Given the description of an element on the screen output the (x, y) to click on. 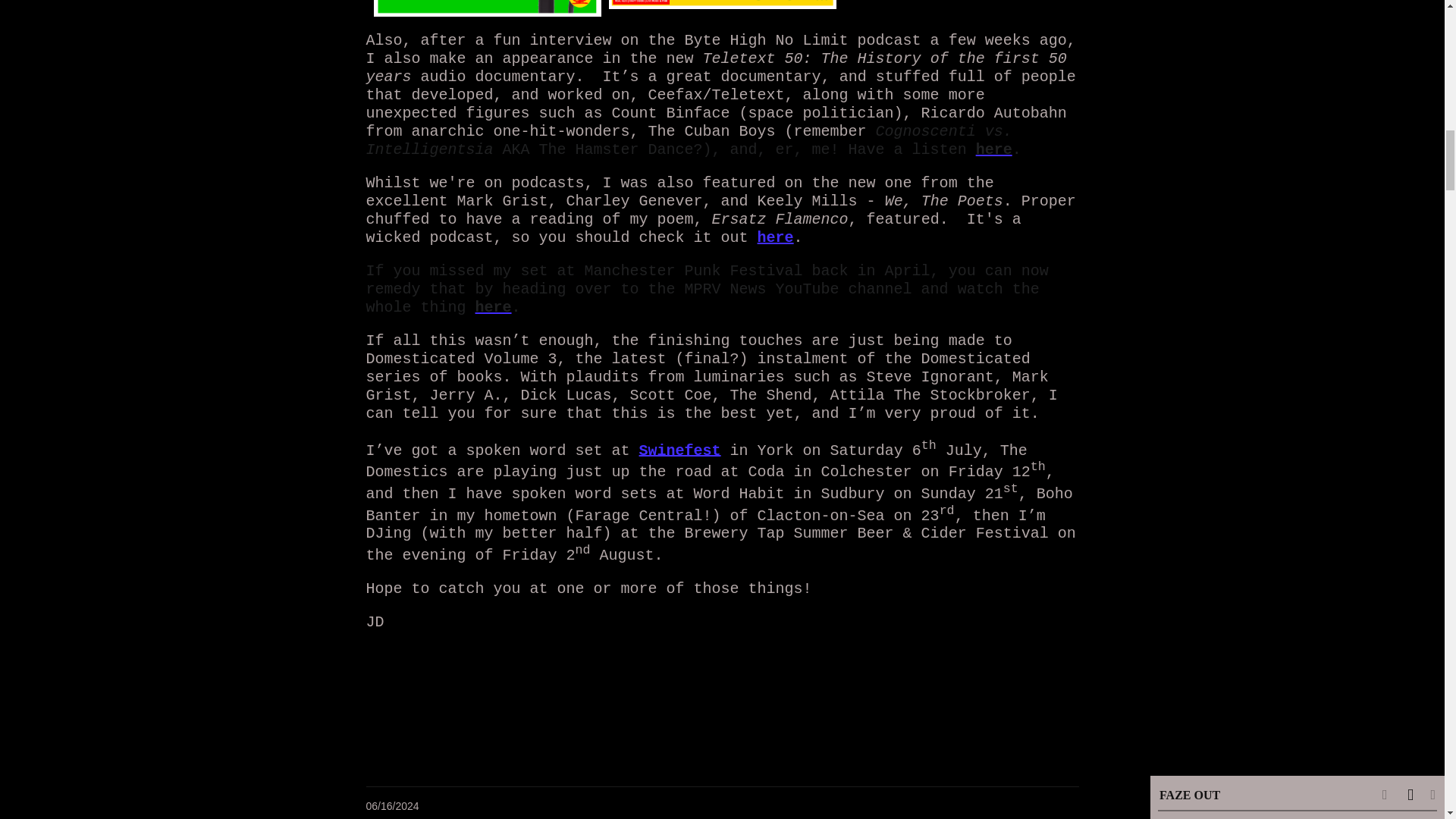
June 16, 2024 15:44 (392, 806)
